Given the description of an element on the screen output the (x, y) to click on. 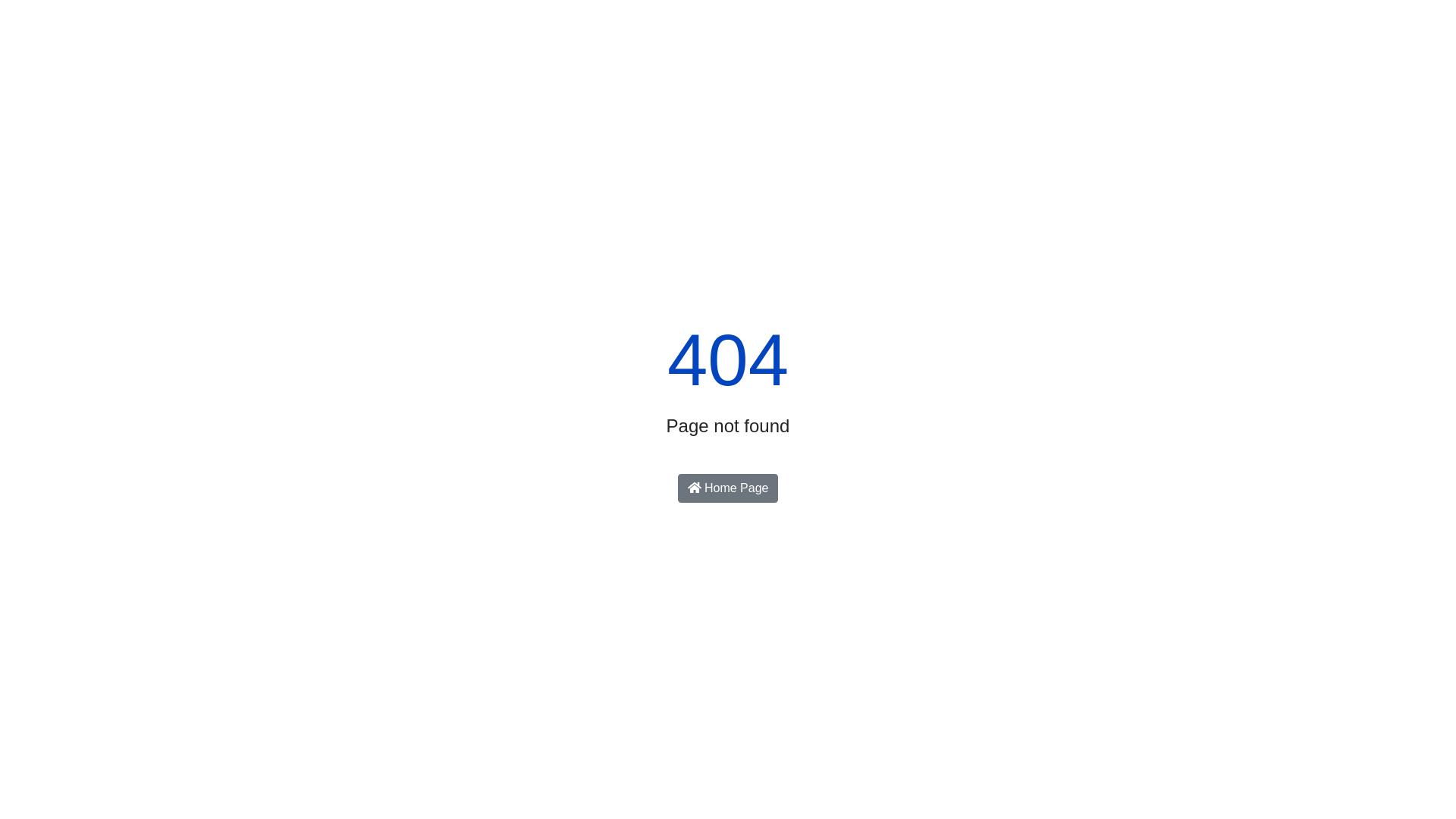
Home Page Element type: text (727, 487)
